Given the description of an element on the screen output the (x, y) to click on. 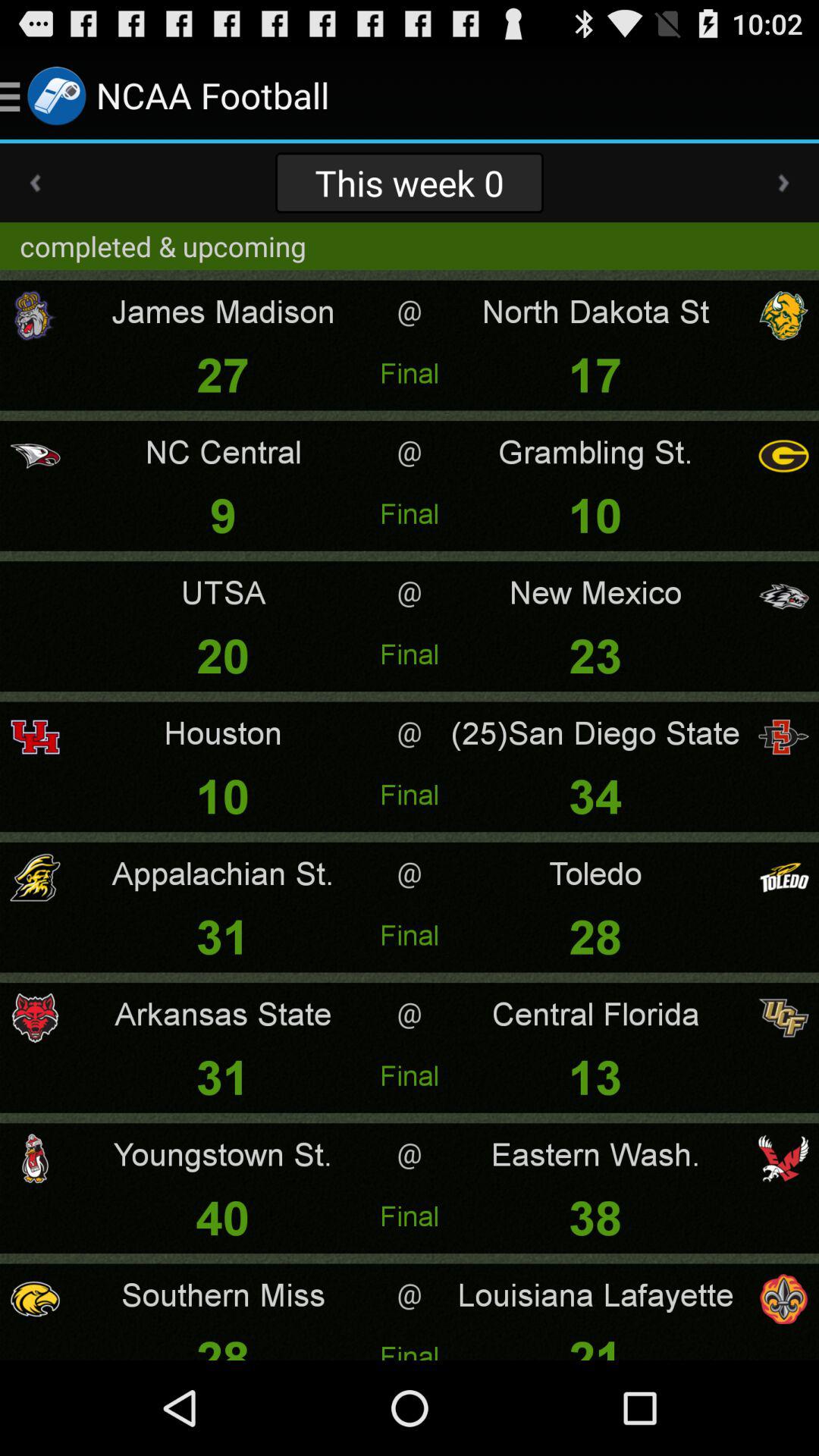
swipe until the this week 0 (409, 182)
